Given the description of an element on the screen output the (x, y) to click on. 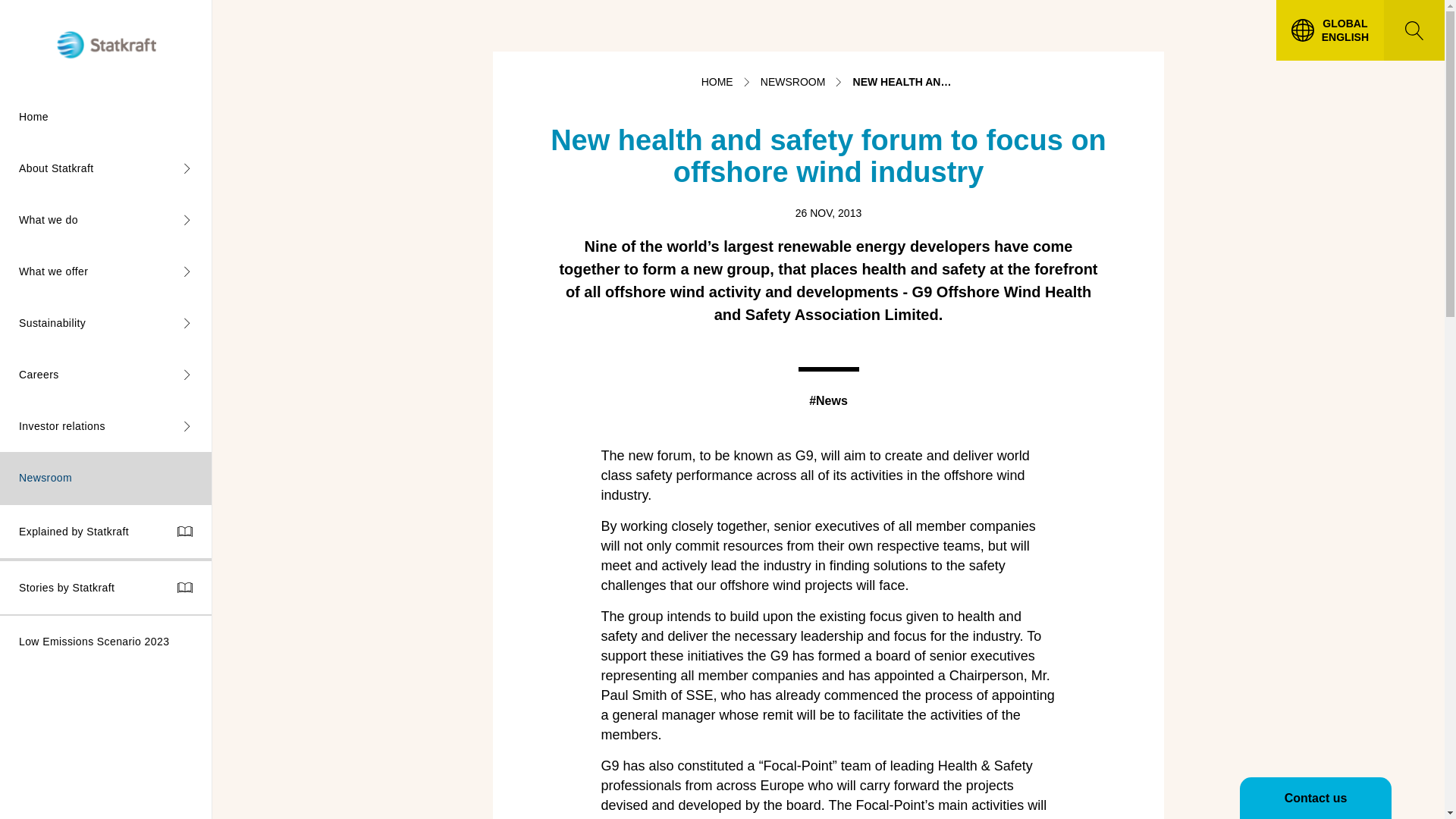
Home (105, 116)
About Statkraft (105, 168)
